Given the description of an element on the screen output the (x, y) to click on. 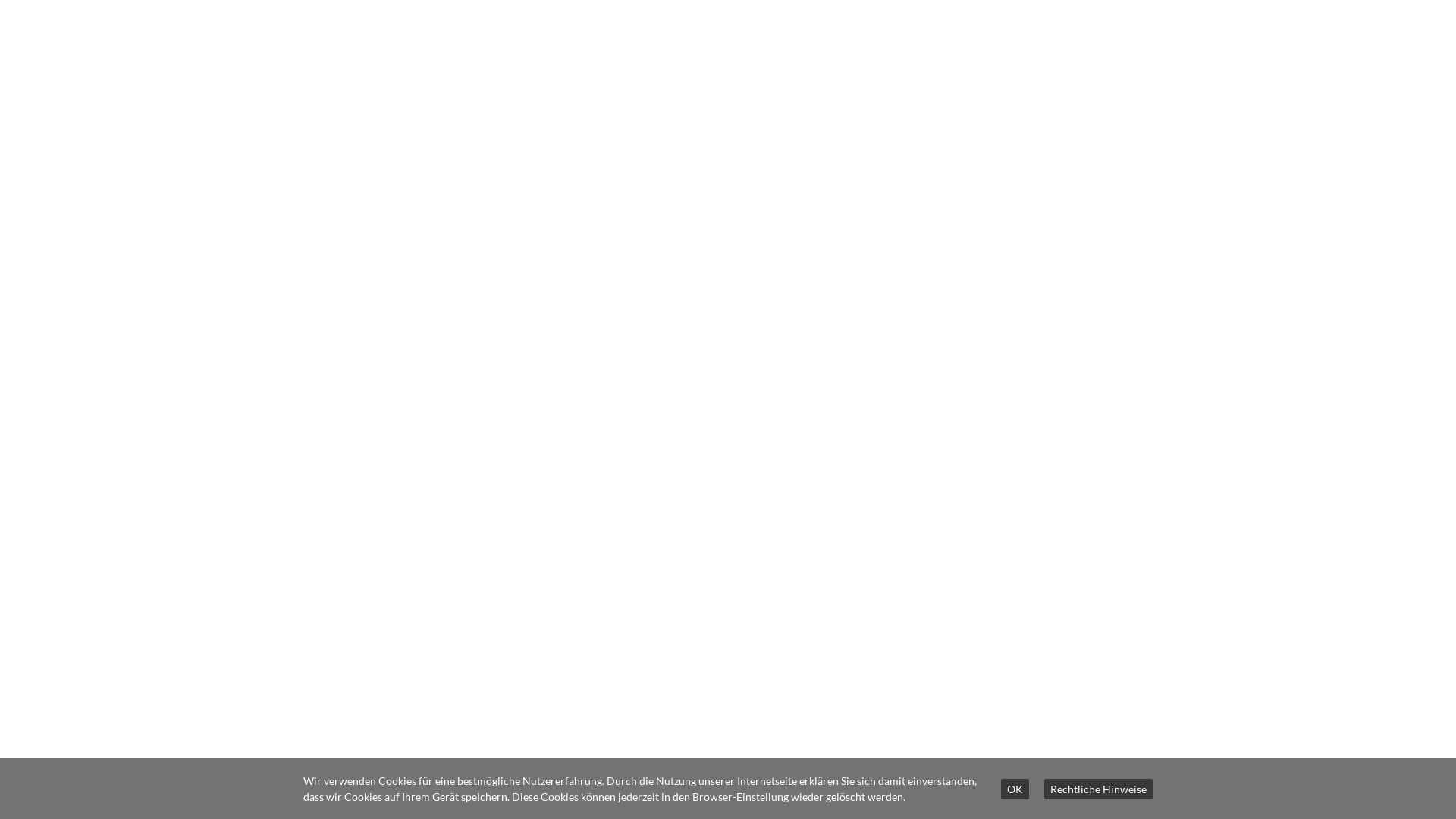
Kataloge Element type: text (318, 639)
BAR & CLUB Element type: text (930, 56)
OK Element type: text (1015, 788)
Neuheiten Element type: text (323, 664)
RESTAURANT & HOTEL Element type: text (782, 56)
SHOP Element type: text (1125, 55)
Trendtour Element type: text (321, 688)
KITCHEN Element type: text (1034, 56)
Rechtliche Hinweise Element type: text (1098, 788)
NUR BILDER ANZEIGEN Element type: text (1107, 682)
Gut zu wissen Element type: text (331, 761)
Showroom Element type: text (323, 712)
